Given the description of an element on the screen output the (x, y) to click on. 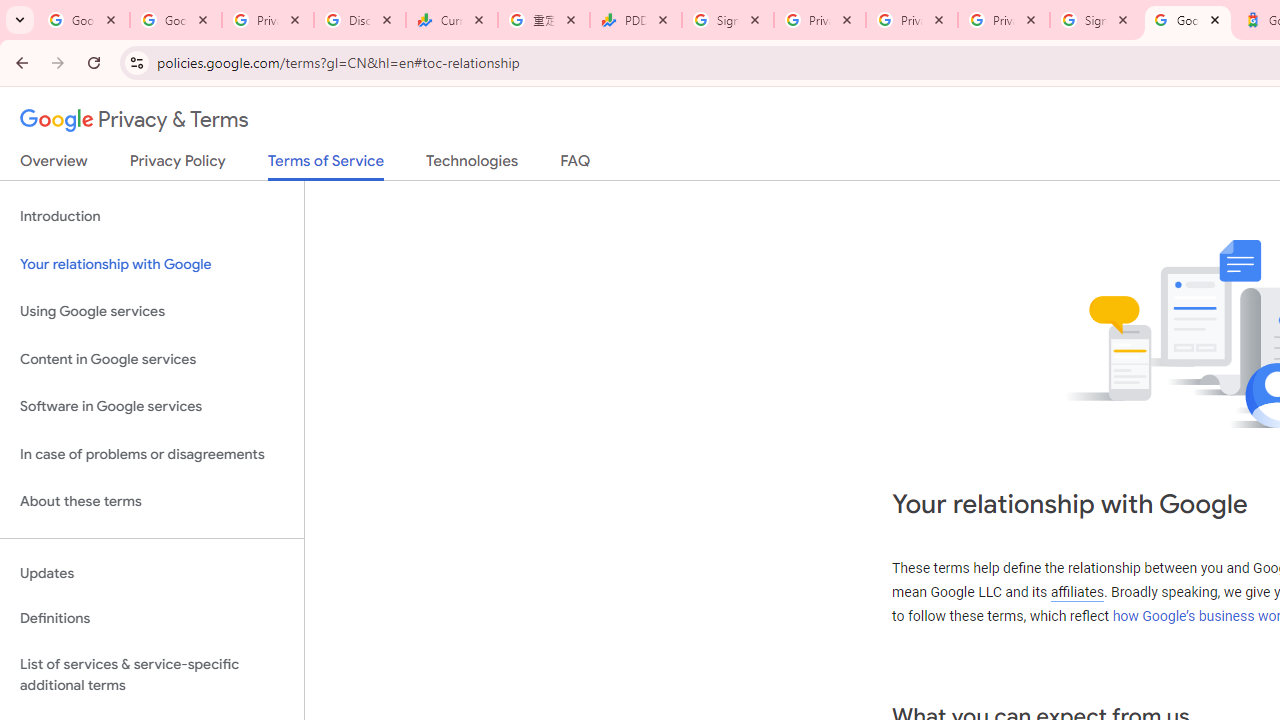
Sign in - Google Accounts (1095, 20)
Privacy Checkup (1003, 20)
Privacy Checkup (911, 20)
About these terms (152, 502)
Content in Google services (152, 358)
Definitions (152, 619)
In case of problems or disagreements (152, 453)
